Given the description of an element on the screen output the (x, y) to click on. 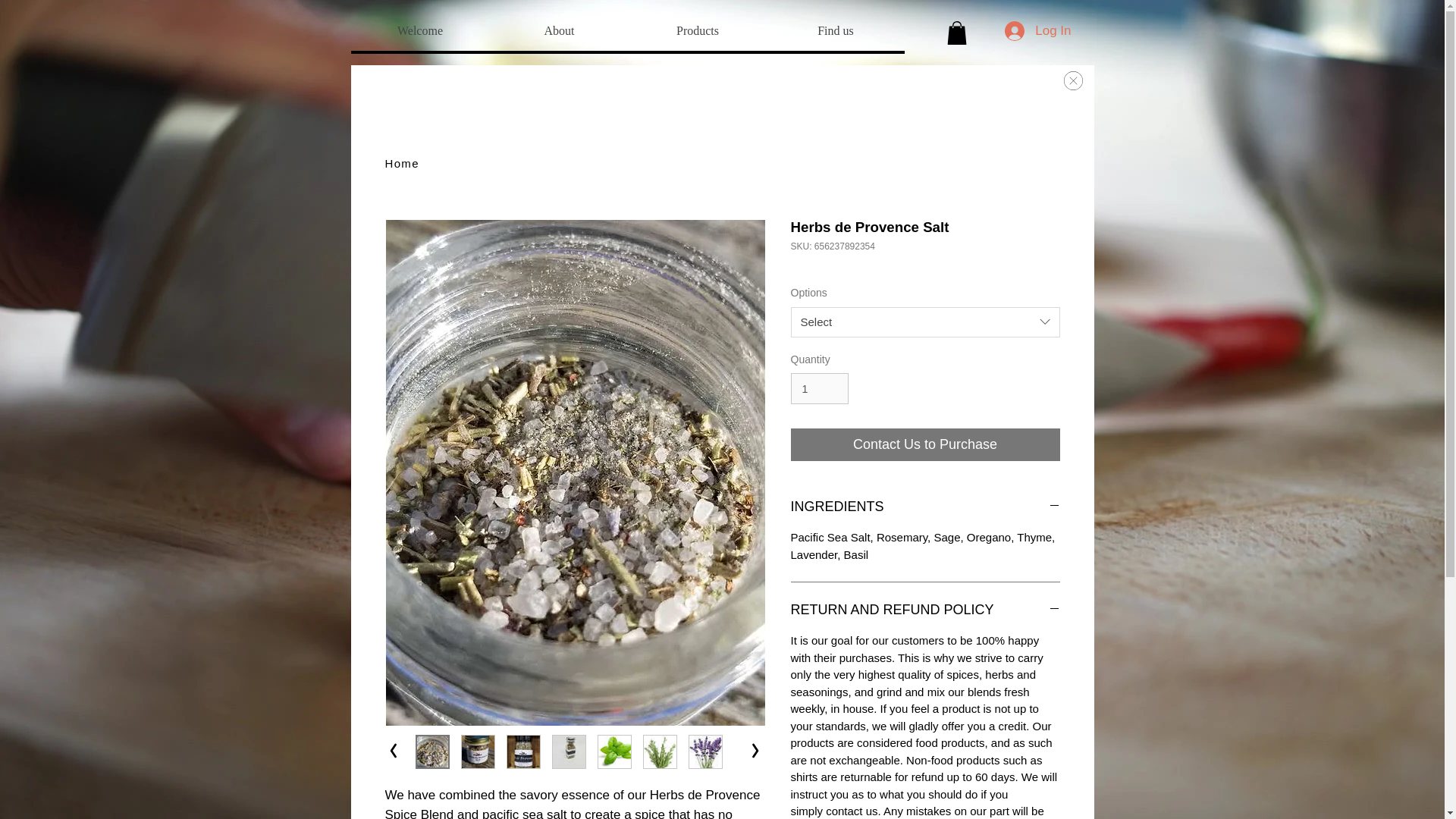
About (558, 30)
Find us (834, 30)
Select (924, 322)
Log In (1037, 30)
1 (818, 388)
Home (402, 163)
Contact Us to Purchase (924, 444)
Welcome (419, 30)
INGREDIENTS (924, 506)
RETURN AND REFUND POLICY (924, 609)
